Given the description of an element on the screen output the (x, y) to click on. 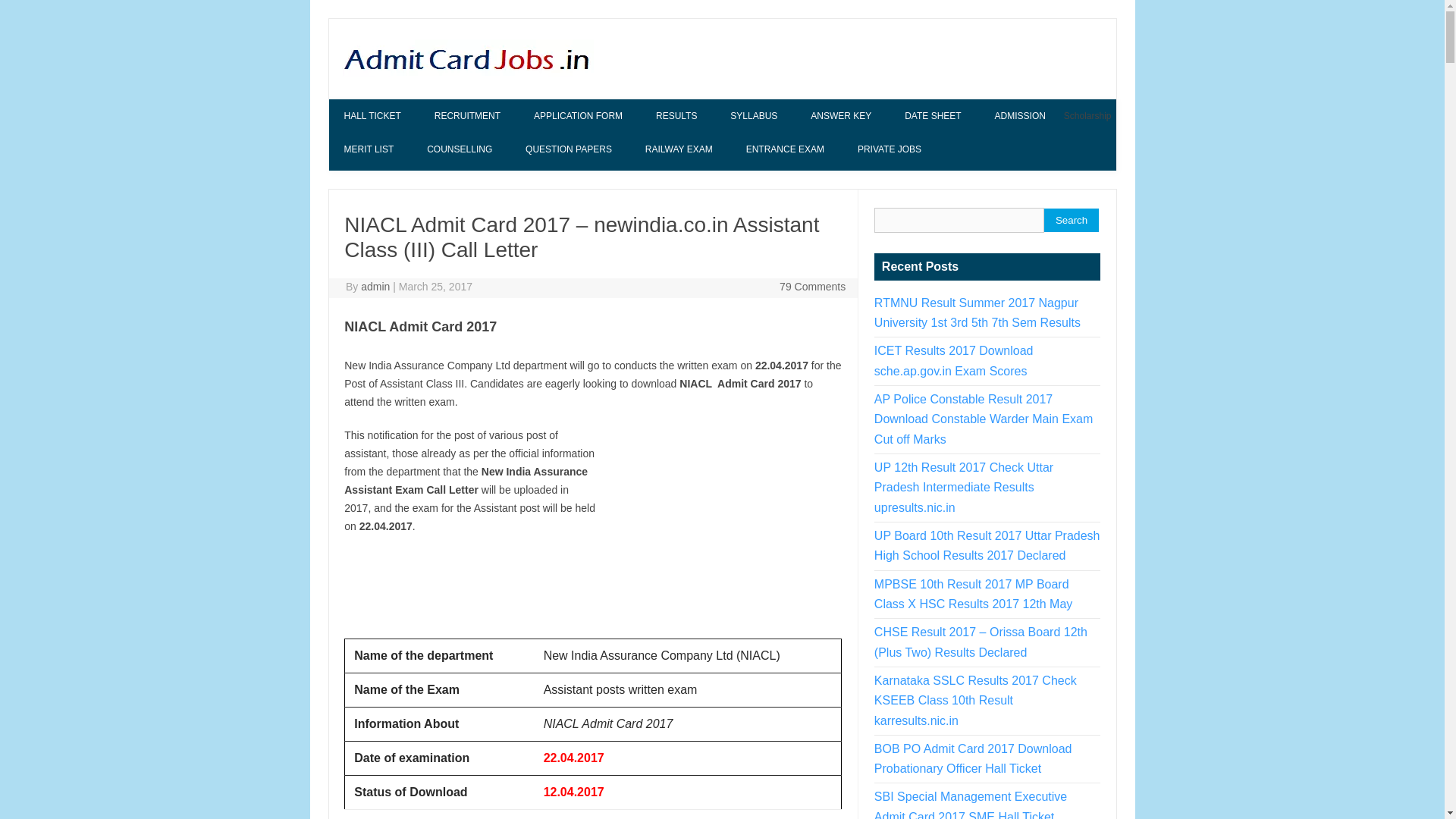
RAILWAY EXAM (679, 149)
SYLLABUS (753, 115)
RESULTS (675, 115)
DATE SHEET (932, 115)
AdmitCardJobs.in (466, 72)
PRIVATE JOBS (889, 149)
Posts by admin (375, 286)
Skip to content (363, 103)
HALL TICKET (372, 115)
MERIT LIST (369, 149)
RECRUITMENT (467, 115)
admin (375, 286)
79 Comments (811, 286)
Skip to content (363, 103)
ADMISSION (1020, 115)
